Given the description of an element on the screen output the (x, y) to click on. 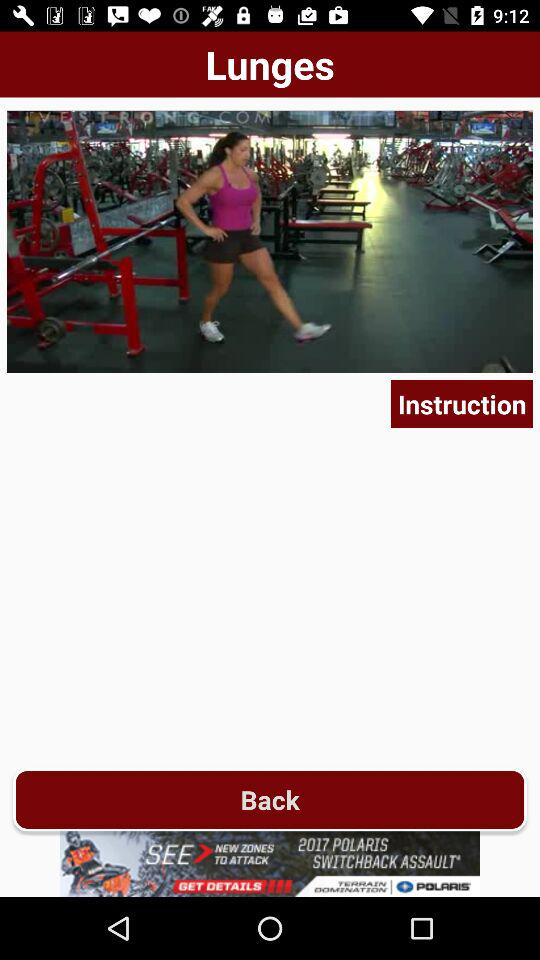
open advertisement (270, 864)
